Given the description of an element on the screen output the (x, y) to click on. 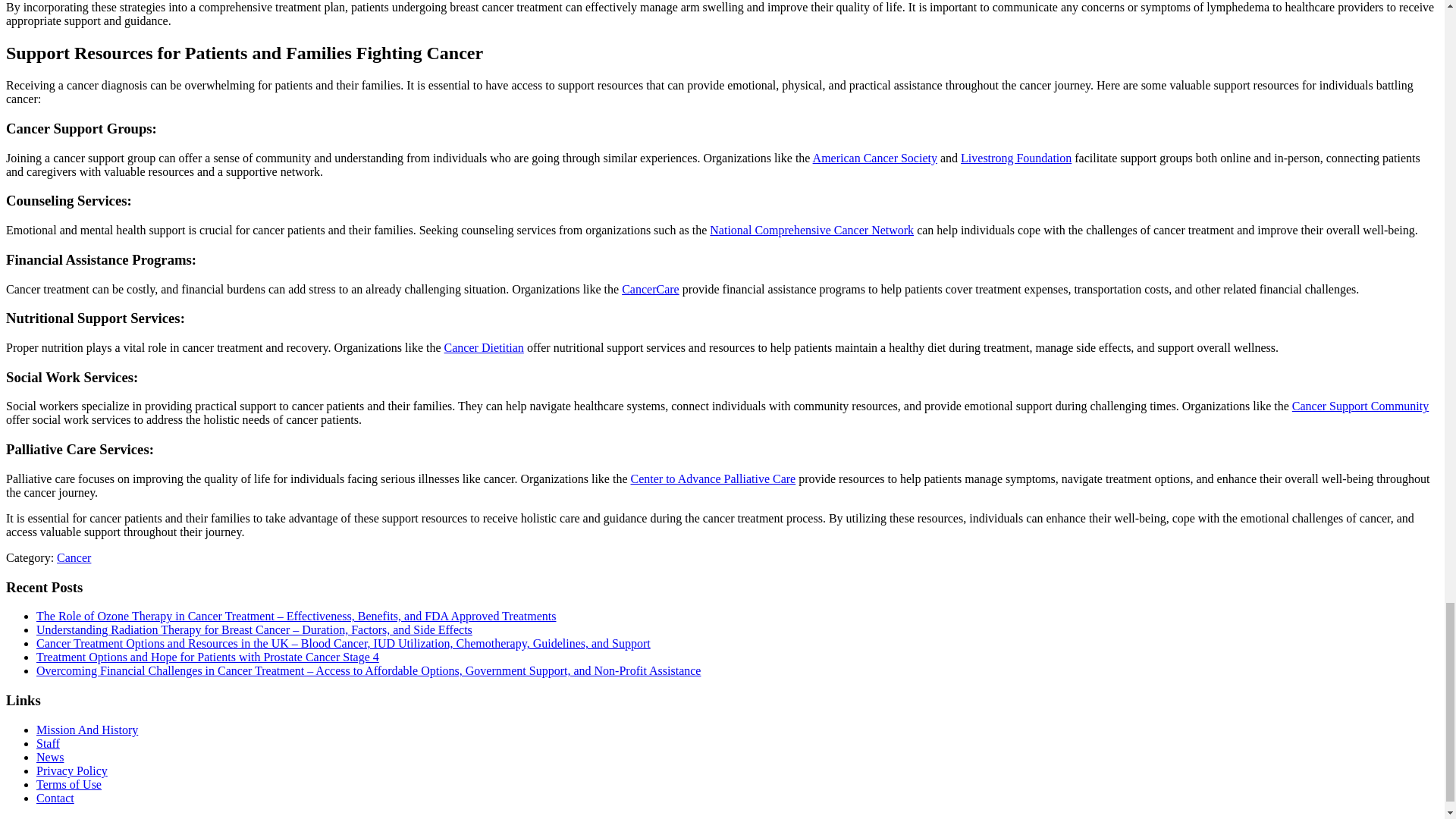
National Comprehensive Cancer Network (812, 229)
American Cancer Society (874, 157)
CancerCare (650, 288)
Center to Advance Palliative Care (712, 478)
Livestrong Foundation (1015, 157)
Cancer Dietitian (484, 347)
Cancer (73, 557)
Cancer Support Community (1360, 405)
